Given the description of an element on the screen output the (x, y) to click on. 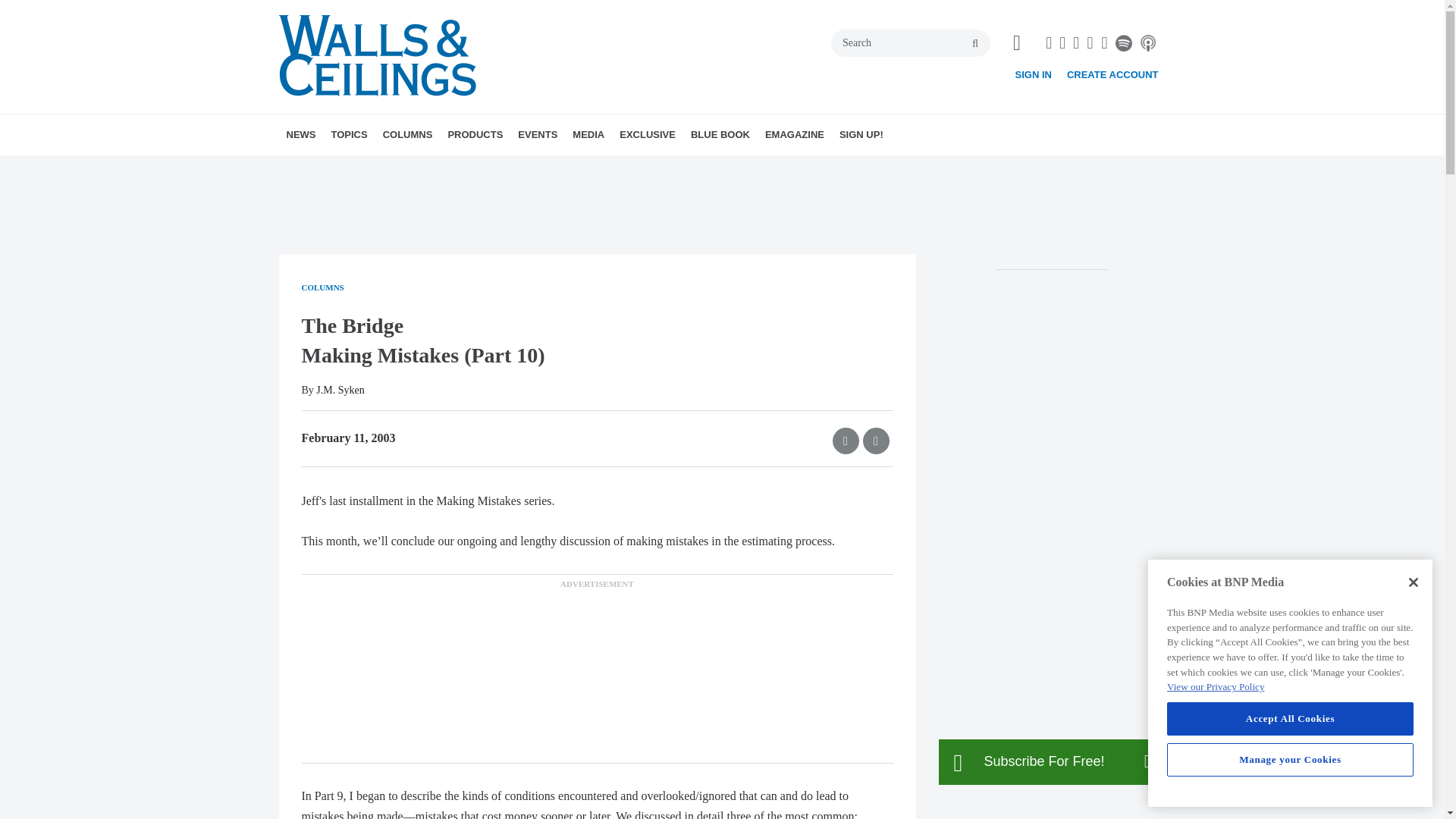
search (975, 43)
METAL FRAMING (436, 167)
CREATE ACCOUNT (1112, 74)
Search (910, 42)
TOOLS AND SOFTWARE (457, 167)
WOMEN IN CONSTRUCTION (464, 167)
INDUSTRY VOICES (483, 167)
STUCCO STOP (488, 167)
INTERIOR (459, 167)
FIREPROOFING (442, 167)
